Given the description of an element on the screen output the (x, y) to click on. 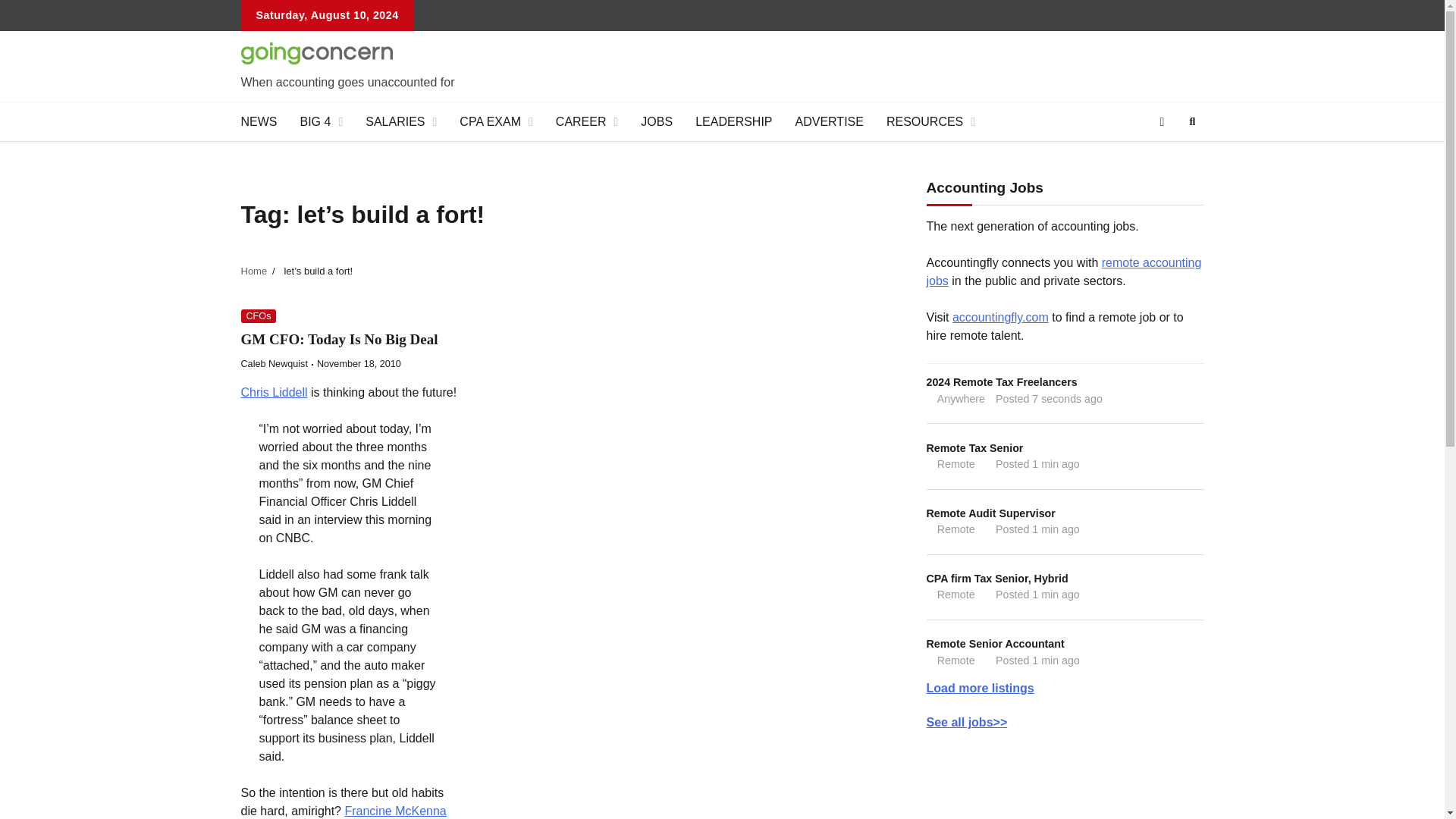
CAREER (587, 121)
CFOs (258, 316)
Chris Liddell (274, 391)
Home (254, 270)
Search (1164, 157)
Francine McKenna thinks so (343, 811)
Caleb Newquist (1065, 390)
GM CFO: Today Is No Big Deal (274, 363)
Search (339, 339)
